Given the description of an element on the screen output the (x, y) to click on. 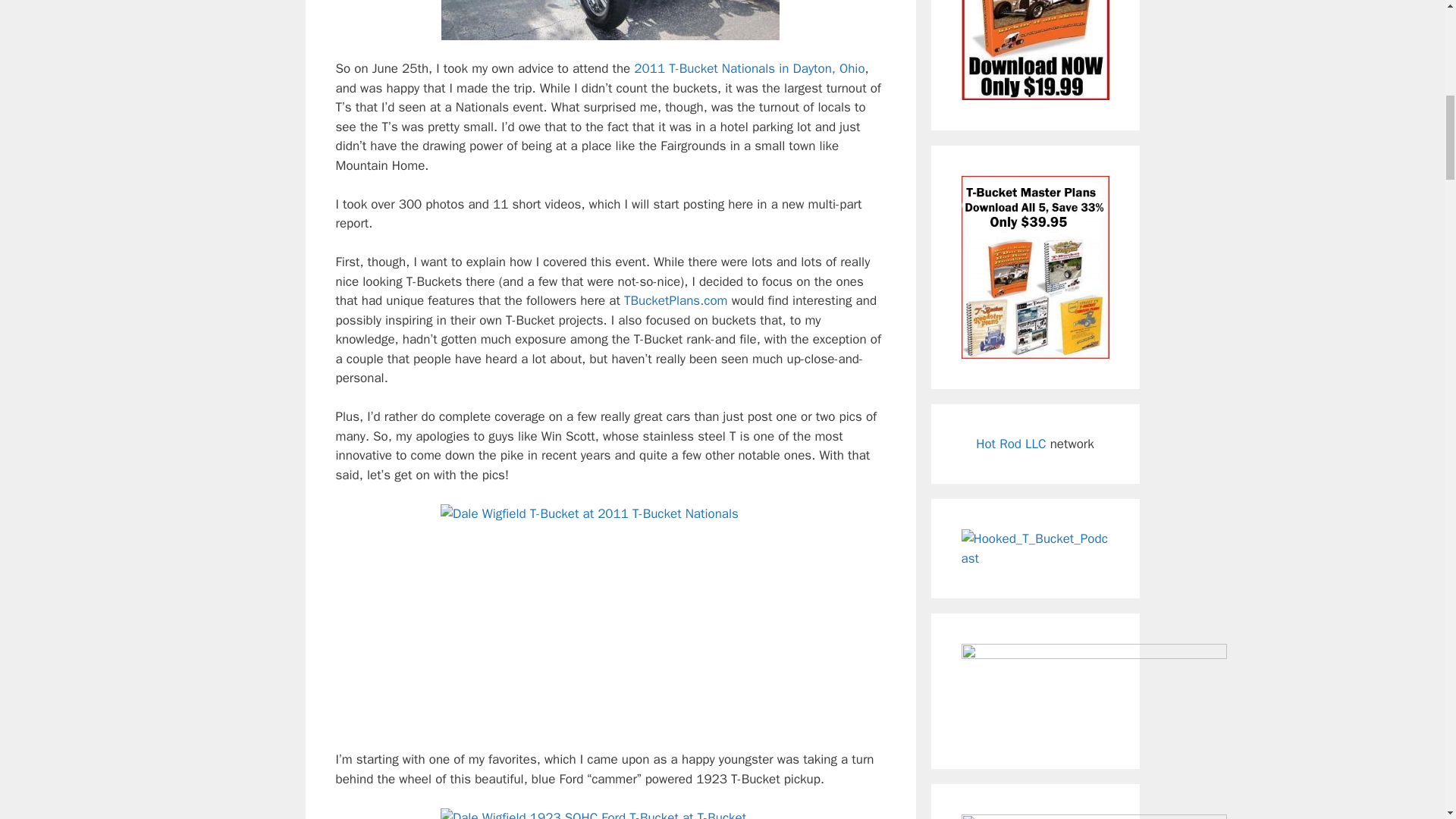
www.TBucketPlans.com (676, 300)
Dale Wigfield T-Bucket 02 (609, 20)
Dale Wigfield T-Bucket 07 (610, 813)
TBucketPlans.com (676, 300)
Dale Wigfield T-Bucket 01 (610, 617)
2011 T-Bucket Nationals in Dayton, Ohio (748, 68)
2011 T-Bucket Nationals in Dayton, Ohio (748, 68)
